Given the description of an element on the screen output the (x, y) to click on. 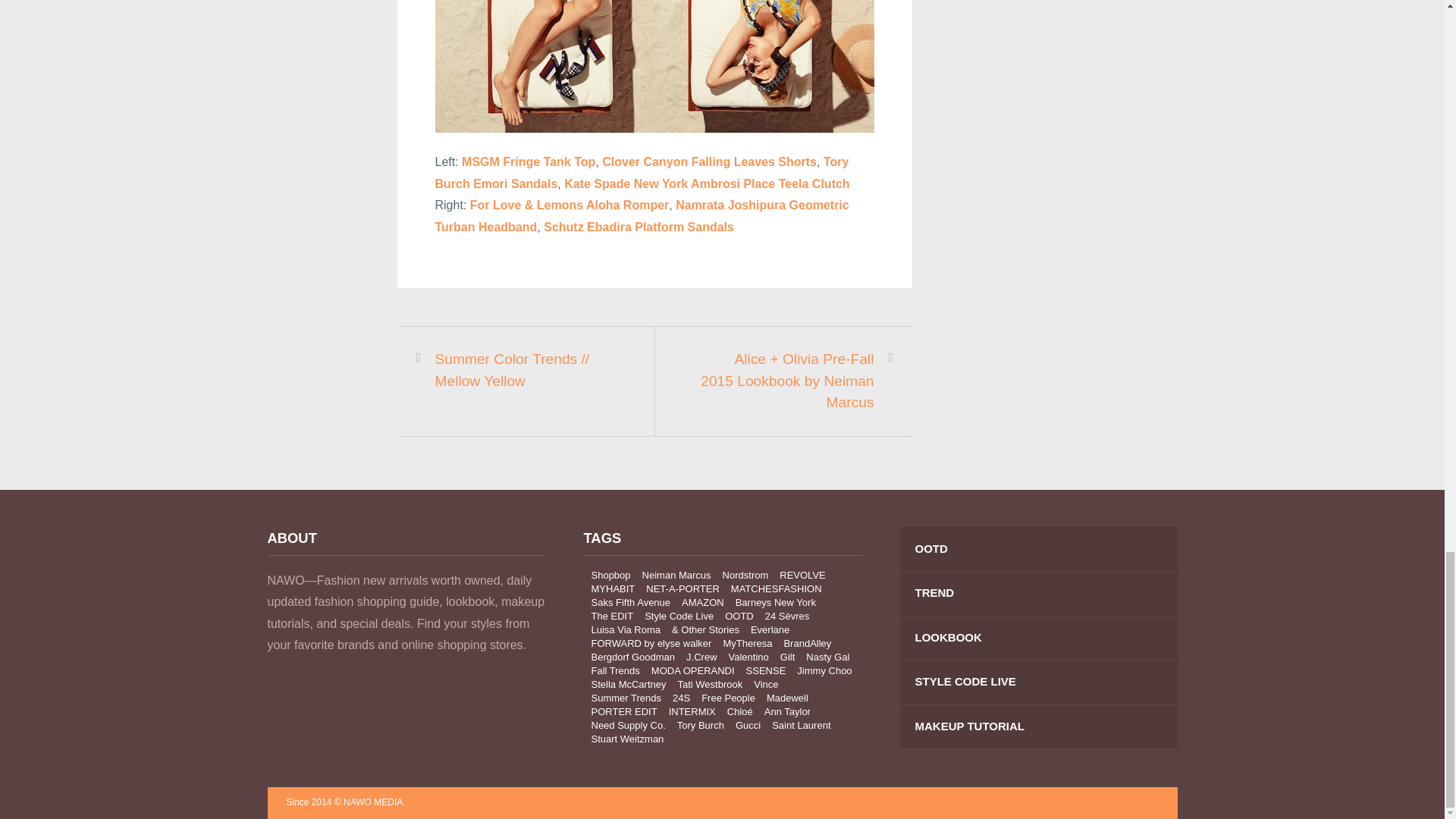
MSGM Fringe Tank Top (528, 161)
Kate Spade New York Ambrosi Place Teela Clutch (706, 183)
Clover Canyon Falling Leaves Shorts (709, 161)
Tory Burch Emori Sandals (641, 172)
Previous (523, 370)
Next (786, 381)
